Given the description of an element on the screen output the (x, y) to click on. 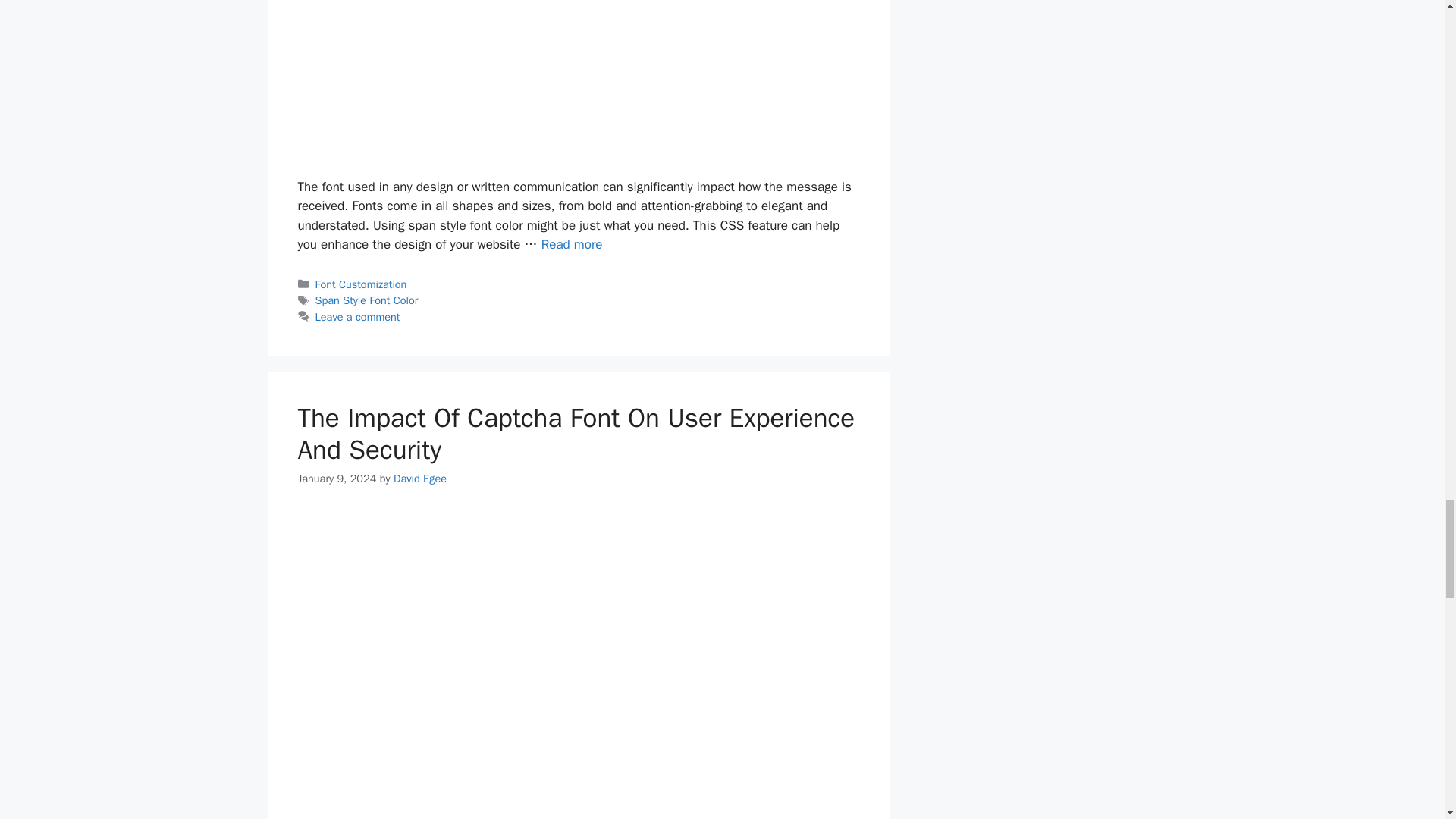
View all posts by David Egee (419, 478)
Enhance Your Website Design With Span Style Font Color (571, 244)
